Given the description of an element on the screen output the (x, y) to click on. 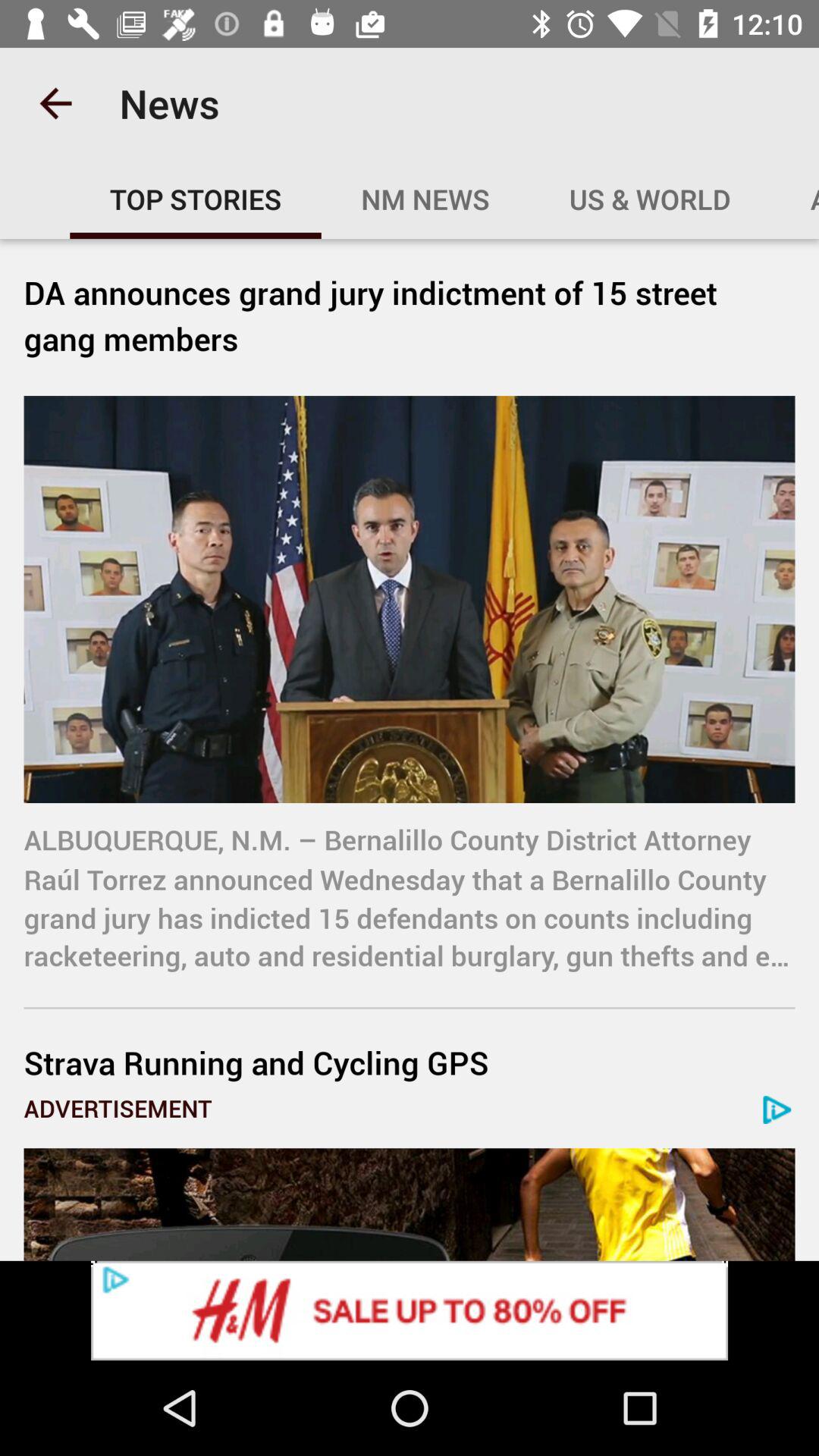
open item to the left of the news (55, 103)
